Given the description of an element on the screen output the (x, y) to click on. 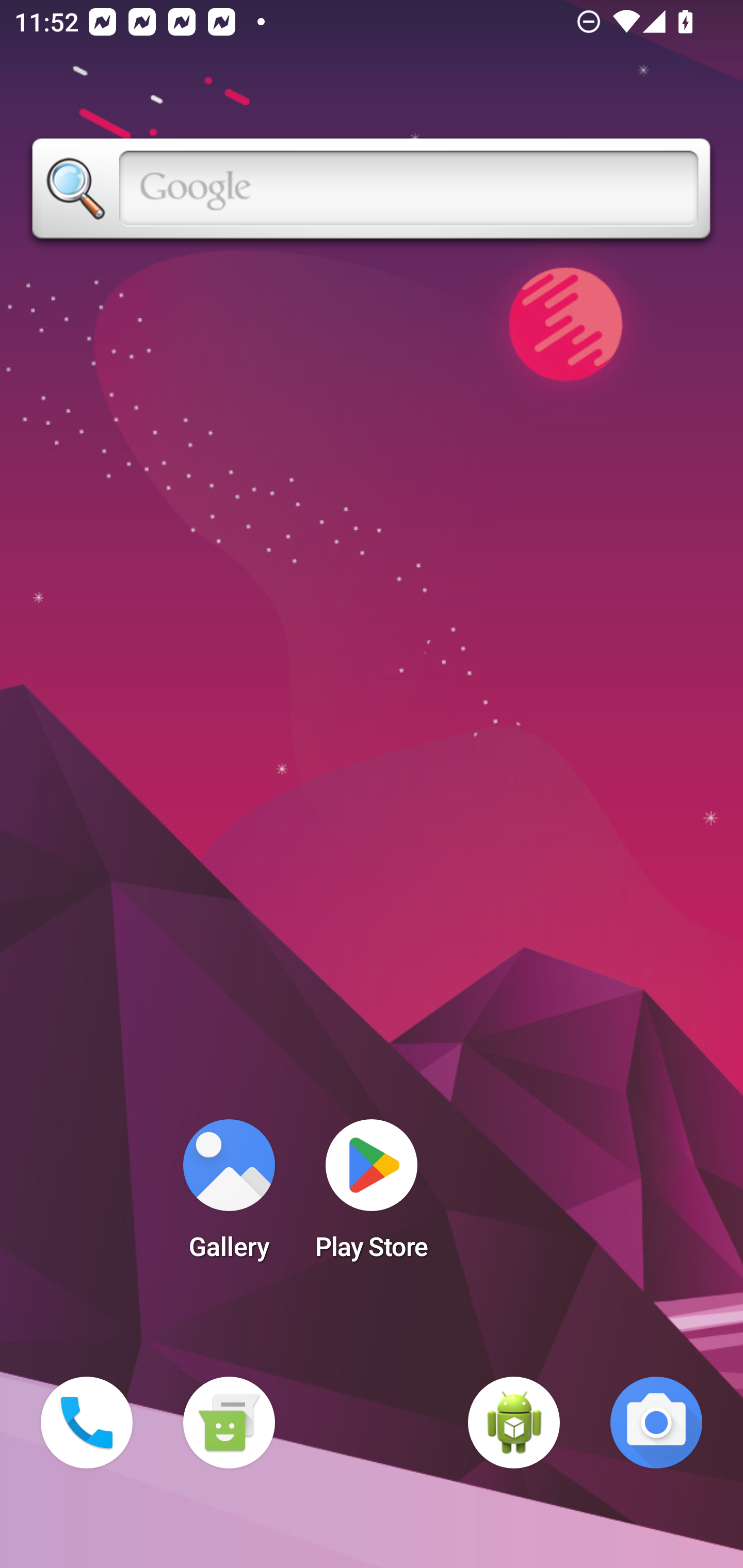
Gallery (228, 1195)
Play Store (371, 1195)
Phone (86, 1422)
Messaging (228, 1422)
WebView Browser Tester (513, 1422)
Camera (656, 1422)
